Given the description of an element on the screen output the (x, y) to click on. 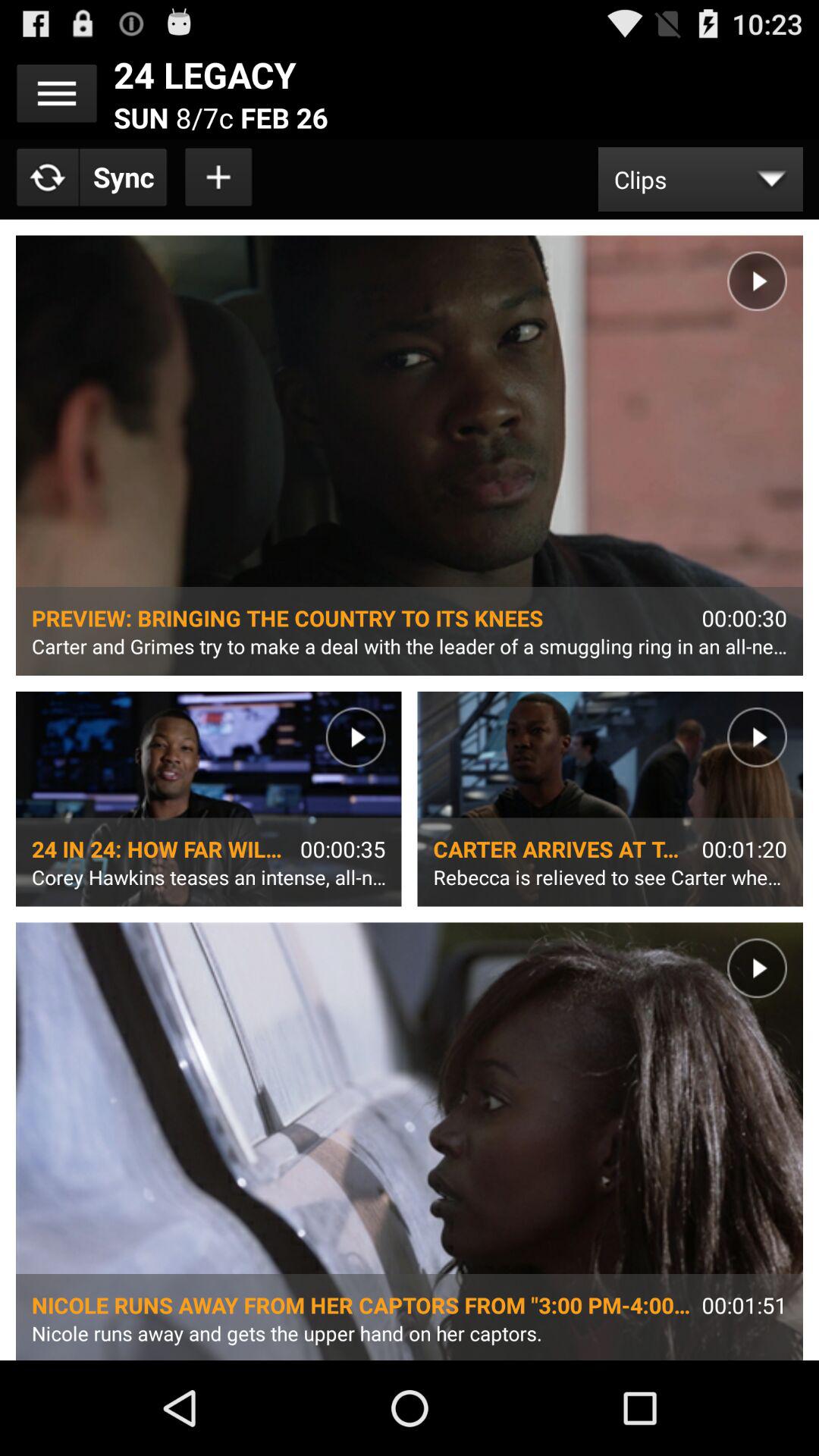
open menu (56, 93)
